Given the description of an element on the screen output the (x, y) to click on. 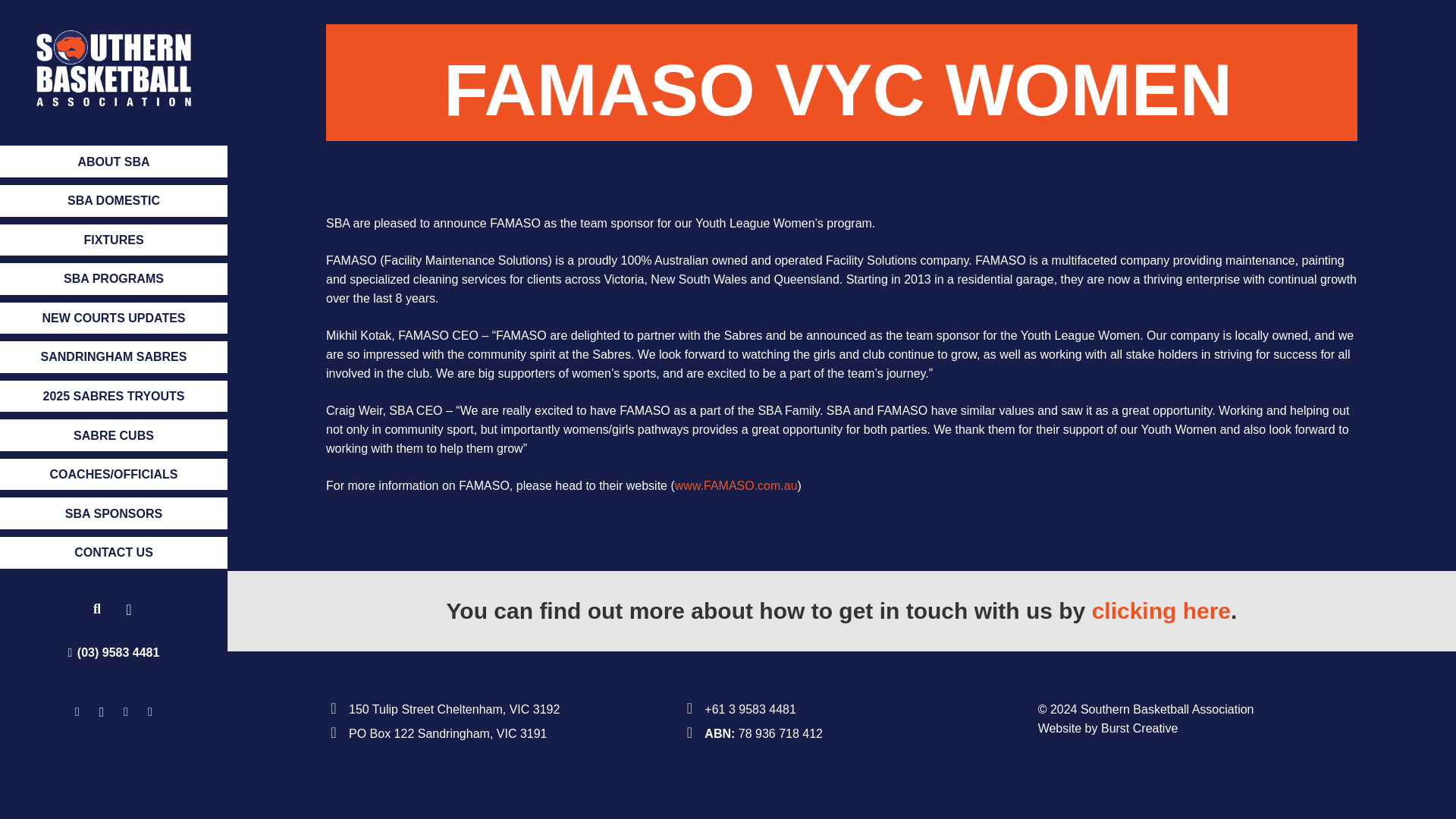
Instagram (100, 711)
NEW COURTS UPDATES (113, 318)
SBA PROGRAMS (113, 278)
SBA DOMESTIC (113, 201)
Twitter (125, 711)
SANDRINGHAM SABRES (113, 357)
FIXTURES (113, 240)
YouTube (149, 711)
ABOUT SBA (113, 161)
Facebook (76, 711)
